Given the description of an element on the screen output the (x, y) to click on. 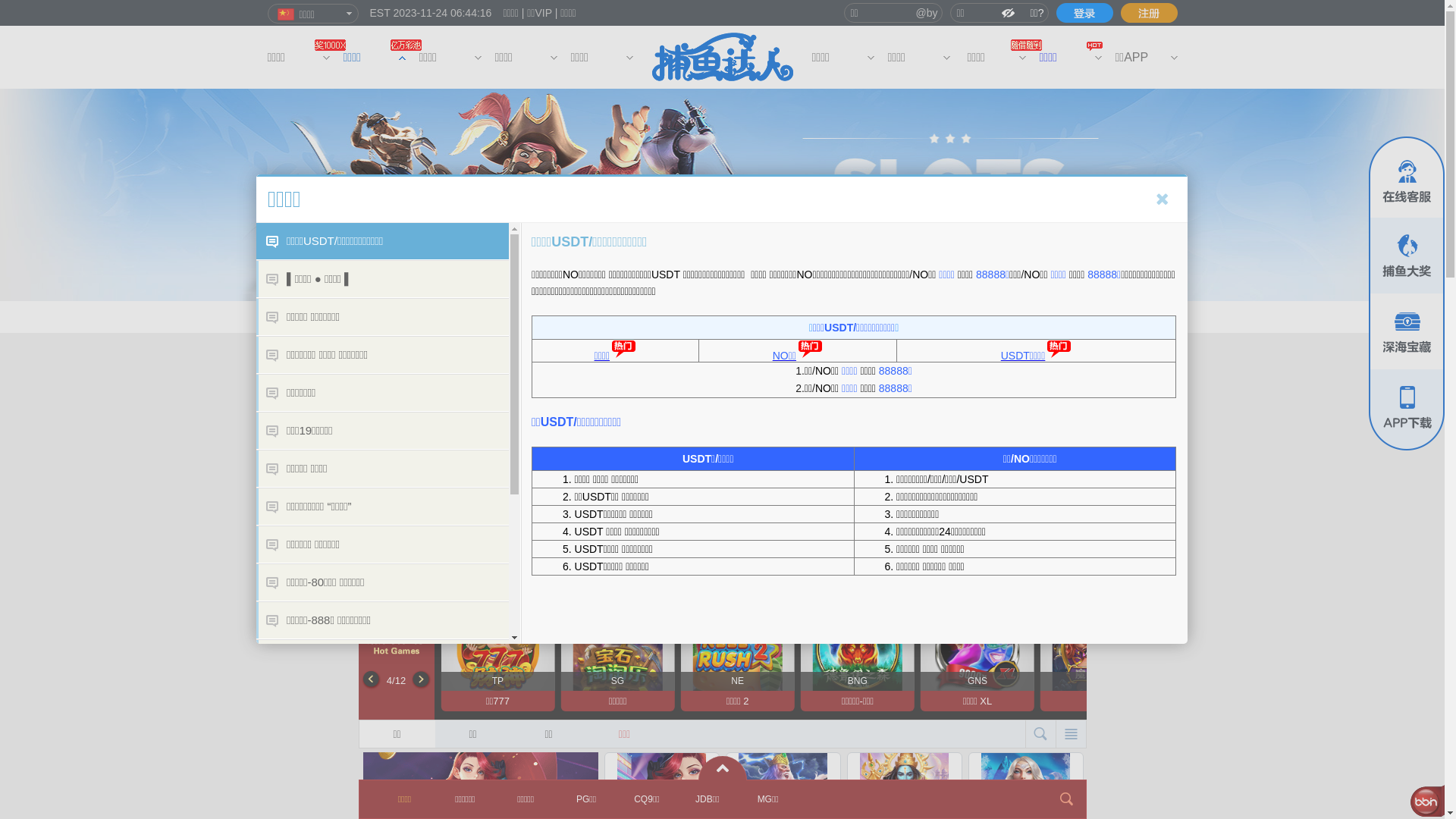
  Element type: text (1083, 12)
